Given the description of an element on the screen output the (x, y) to click on. 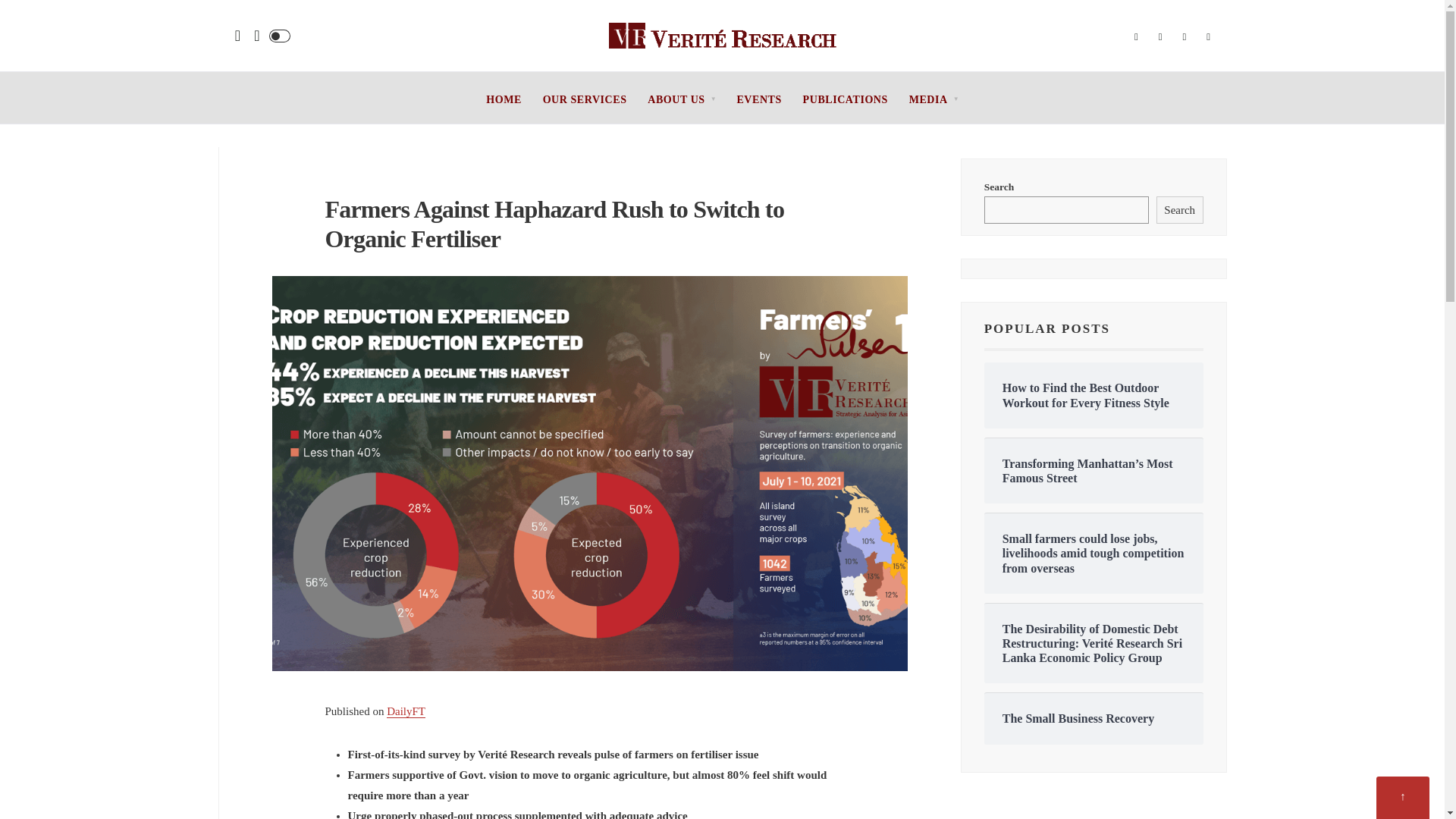
Facebook (1136, 37)
How to Find the Best Outdoor Workout for Every Fitness Style (1094, 394)
MEDIA (933, 100)
The Small Business Recovery (1094, 718)
Twitter (1160, 37)
DailyFT (406, 711)
Search (1180, 209)
HOME (503, 100)
ABOUT US (680, 100)
PUBLICATIONS (845, 100)
